Given the description of an element on the screen output the (x, y) to click on. 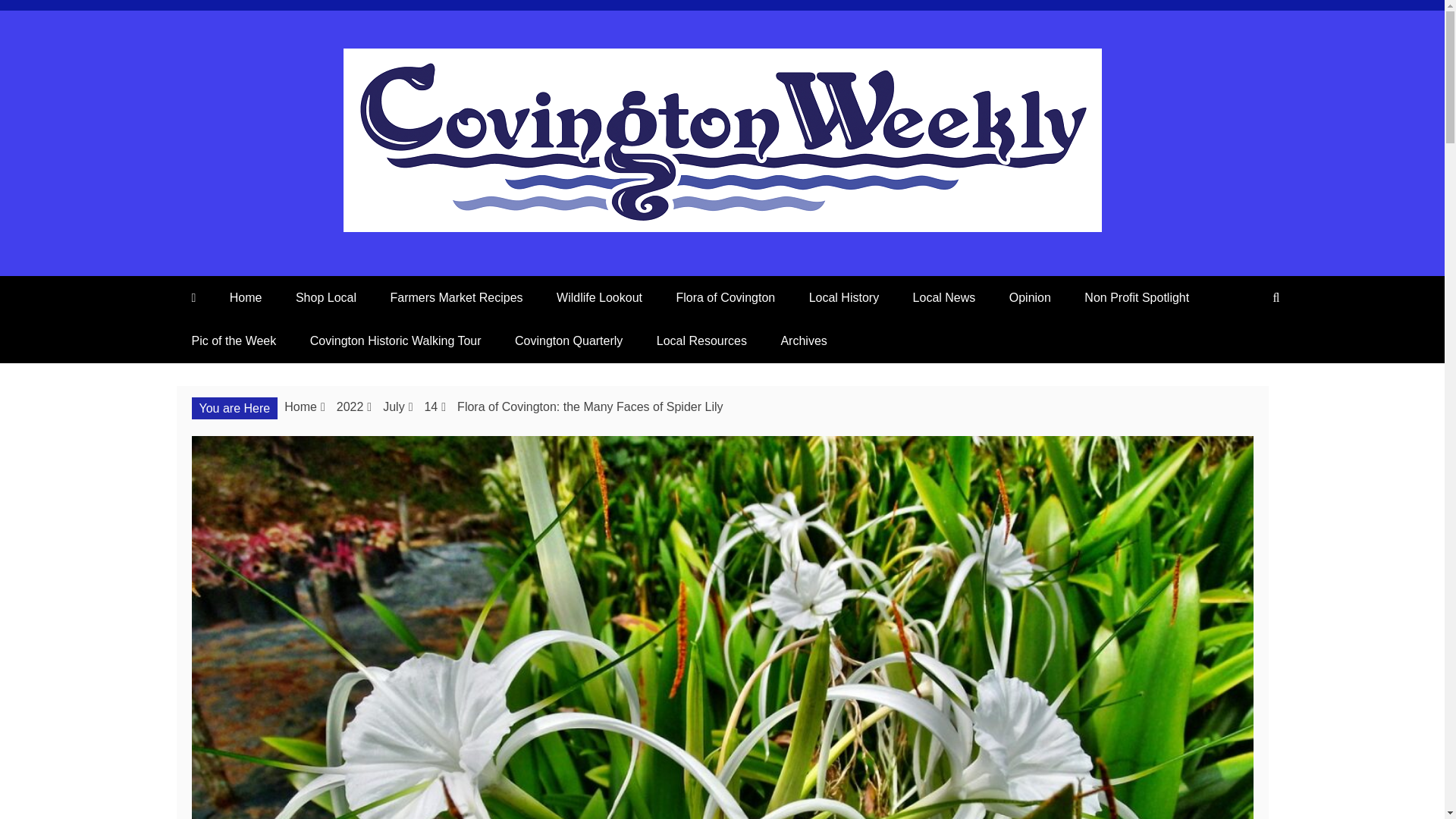
Local History (843, 297)
Opinion (1029, 297)
Local News (944, 297)
Home (246, 297)
2022 (350, 406)
Farmers Market Recipes (455, 297)
14 (430, 406)
Flora of Covington (725, 297)
Wildlife Lookout (599, 297)
July (393, 406)
